Given the description of an element on the screen output the (x, y) to click on. 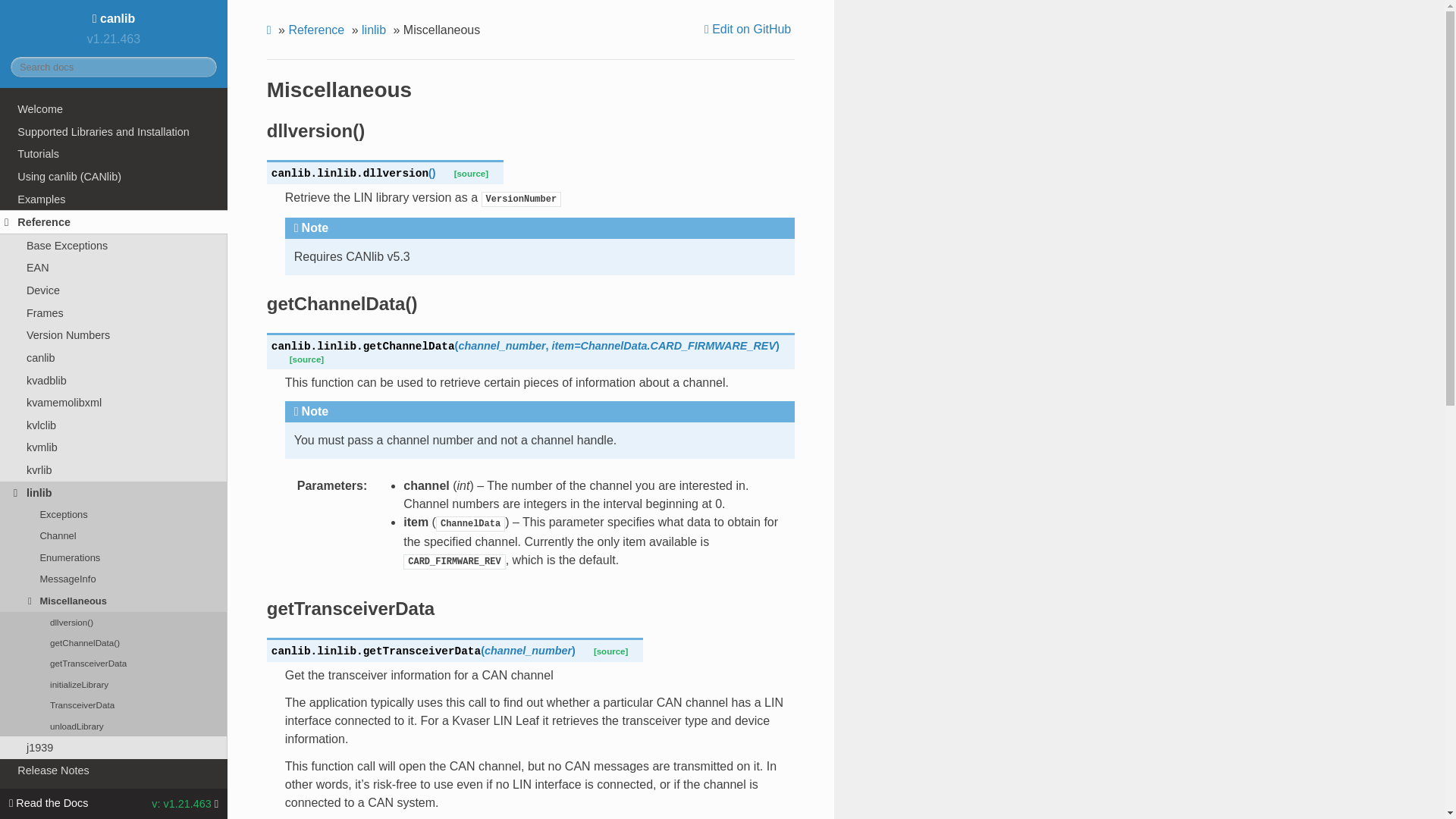
Channel (113, 536)
TransceiverData (113, 704)
Tutorials (113, 153)
kvmlib (113, 447)
Reference (113, 221)
Device (113, 290)
Frames (113, 313)
linlib (113, 492)
Supported Libraries and Installation (113, 131)
MessageInfo (113, 578)
canlib (113, 357)
EAN (113, 268)
canlib.VersionNumber (521, 196)
Examples (113, 199)
canlib (113, 18)
